Given the description of an element on the screen output the (x, y) to click on. 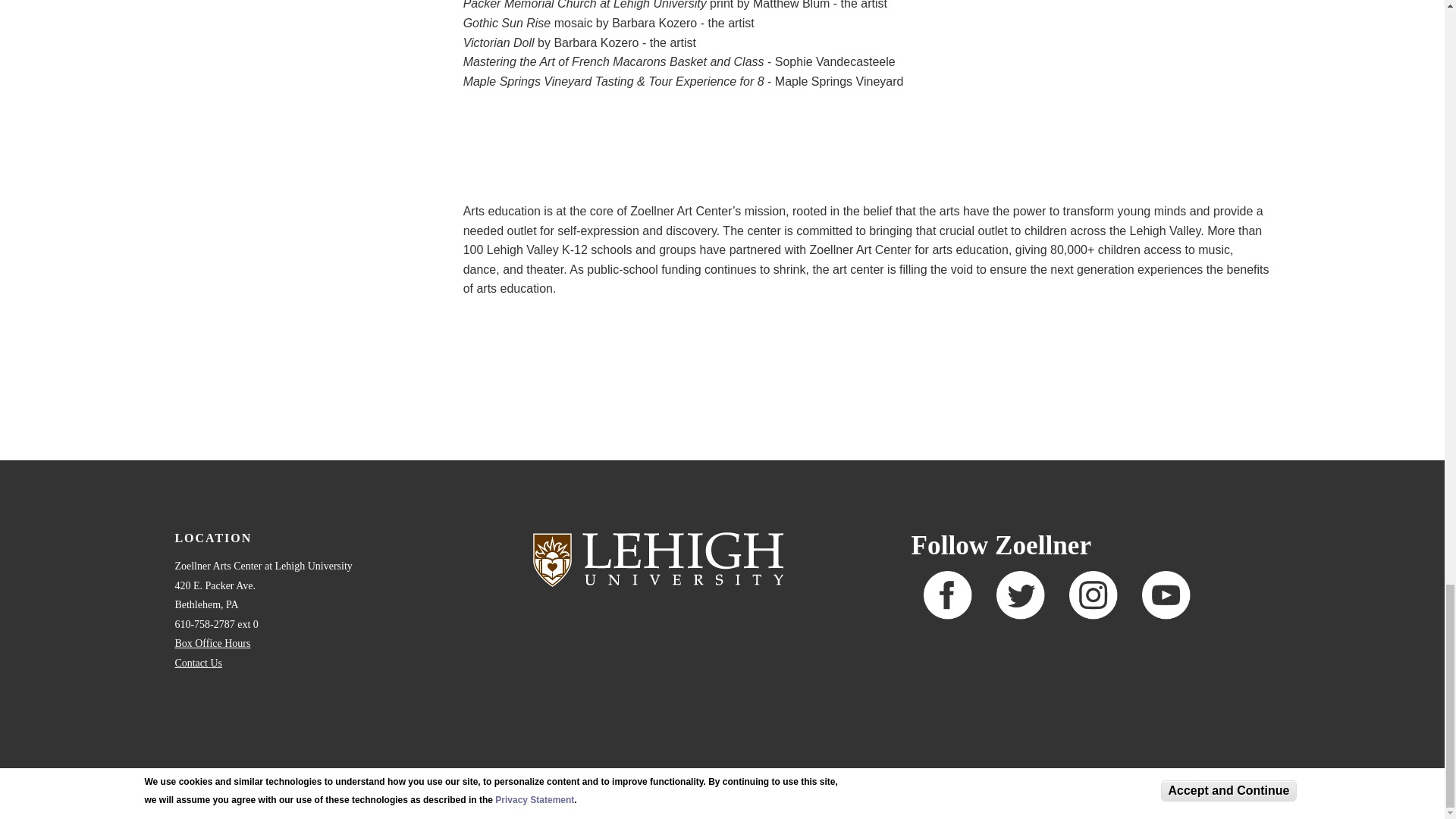
Contact (350, 774)
Account (587, 774)
Directory (283, 774)
Lehigh Mobile App (533, 774)
Contact Us (198, 663)
Privacy (676, 774)
Higher Education Opportunity Act (753, 774)
Web Accessibility (464, 774)
Emergency Info (400, 774)
Box Office Hours (212, 643)
Maps (319, 774)
Terms of Use (632, 774)
